Given the description of an element on the screen output the (x, y) to click on. 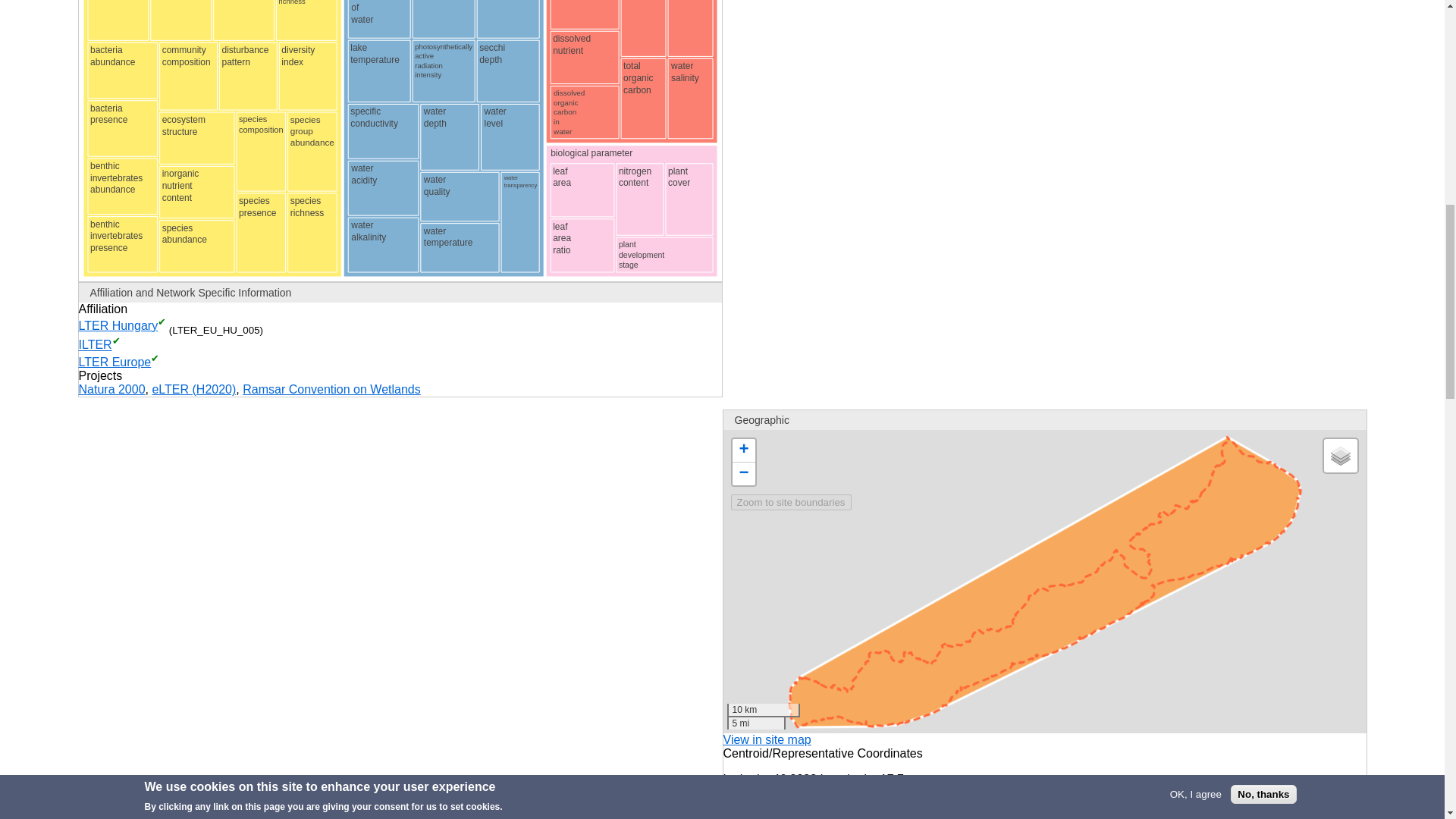
LTER Europe (114, 361)
LTER Hungary (118, 325)
Zoom out (743, 473)
Natura 2000 (111, 389)
Ramsar Convention on Wetlands (331, 389)
View in site map (766, 739)
Layers (1339, 455)
Zoom in (743, 450)
Zoom to site boundaries (790, 502)
ILTER (95, 345)
Zooms to the extent of the site (790, 502)
